Given the description of an element on the screen output the (x, y) to click on. 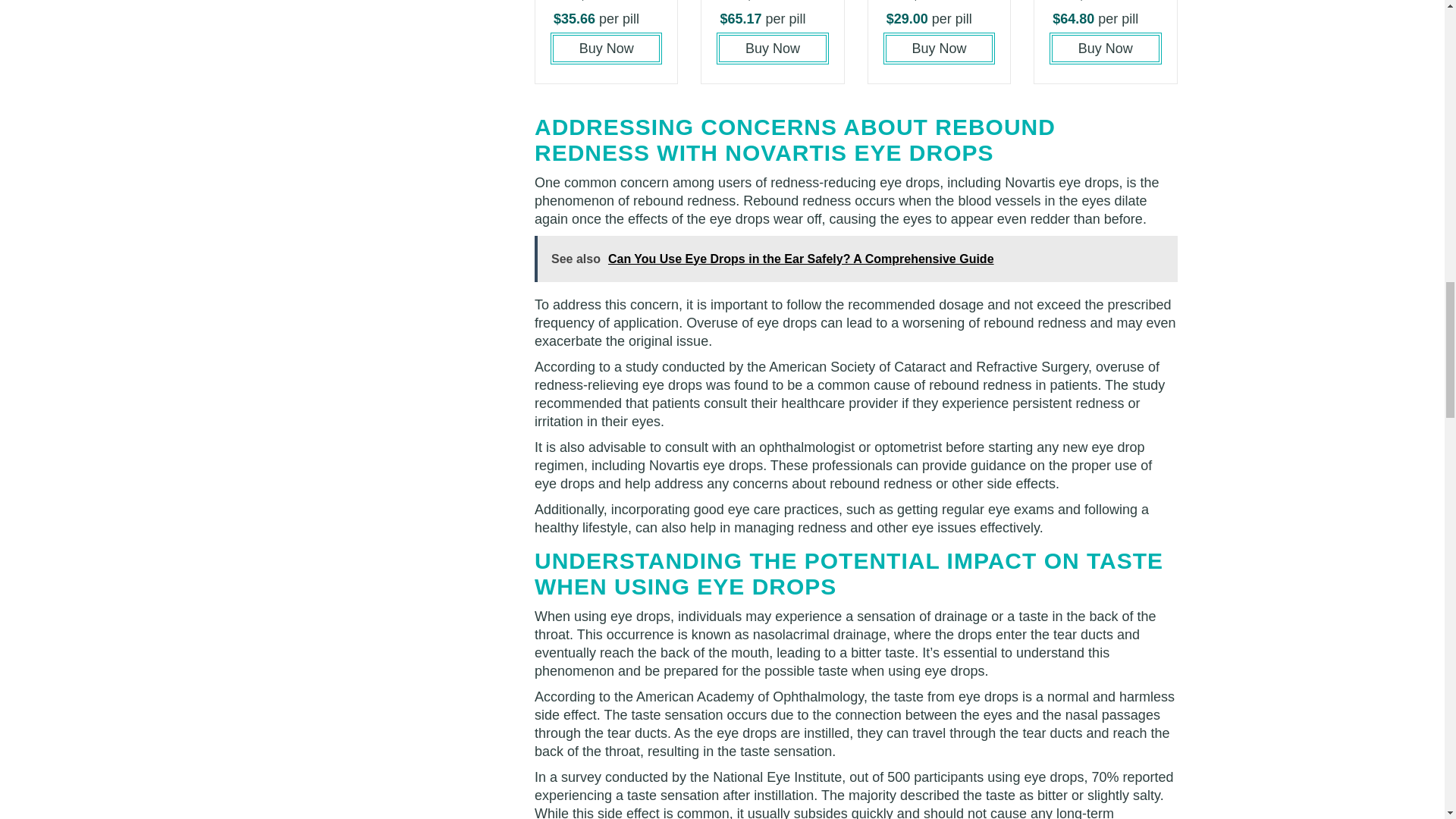
Buy Now (1104, 48)
Buy Now (606, 48)
Buy Now (938, 48)
Buy Now (772, 48)
